Given the description of an element on the screen output the (x, y) to click on. 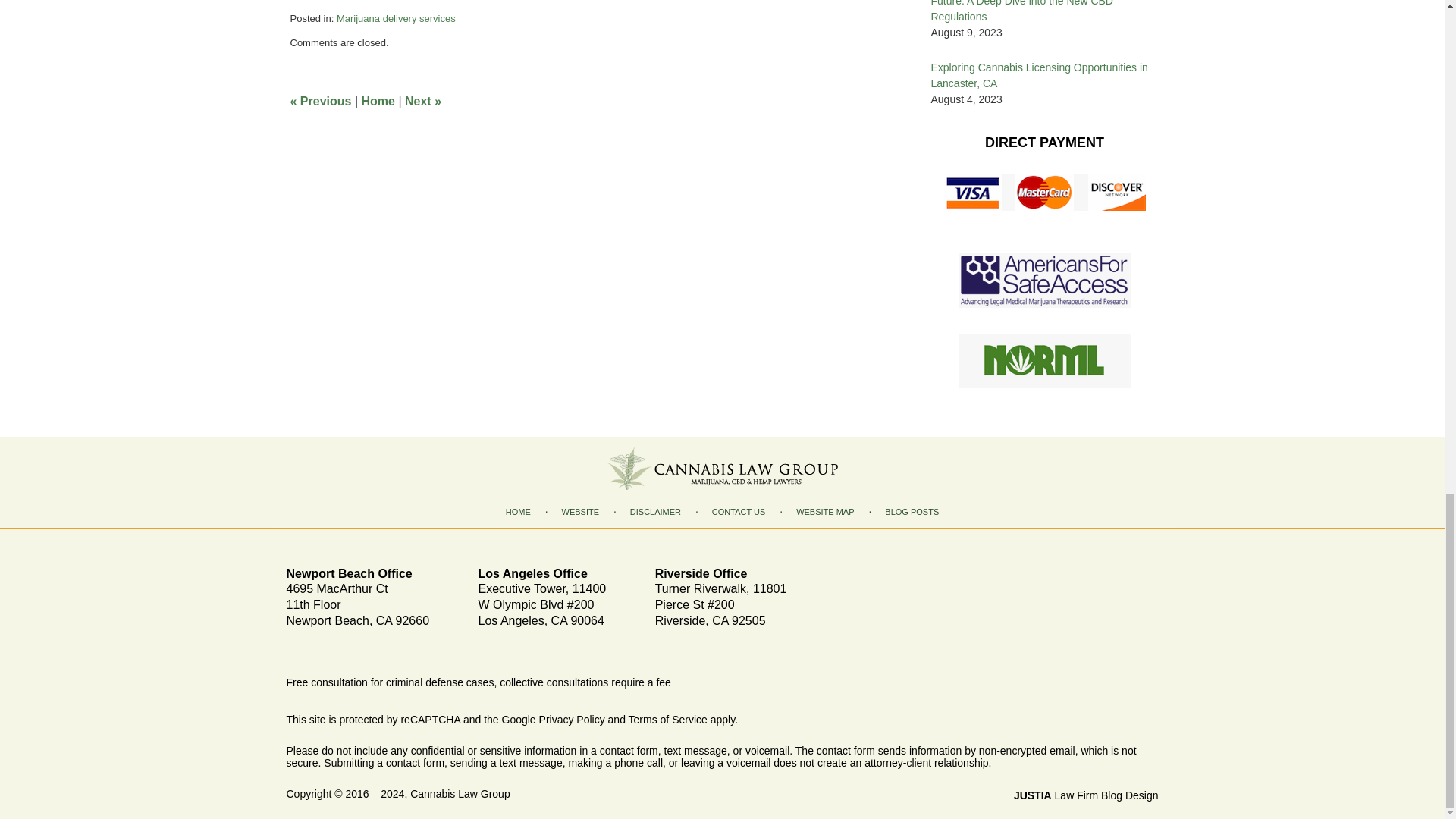
View all posts in Marijuana delivery services (395, 116)
Study: Teen Marijuana Use Not Linked to Health Trouble, (452, 87)
E-Cannabis: California Companies Connect Marijuana with Tech (474, 38)
Marijuana delivery services (395, 116)
